Given the description of an element on the screen output the (x, y) to click on. 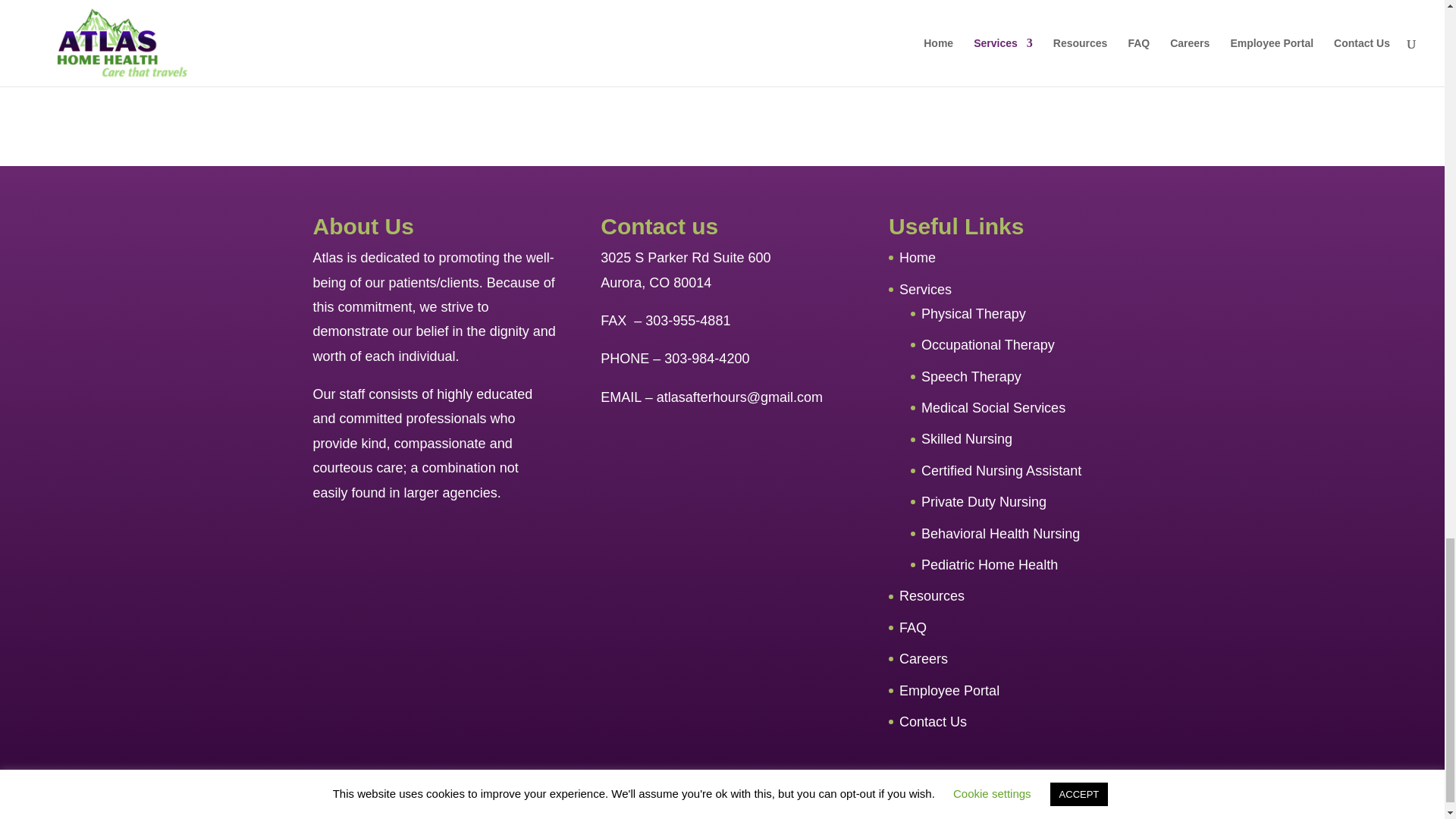
3025 S Parker Rd Suite 600 (684, 257)
Services (925, 289)
Aurora, CO 80014 (655, 282)
Home (917, 257)
303-984-4200 (706, 358)
